Given the description of an element on the screen output the (x, y) to click on. 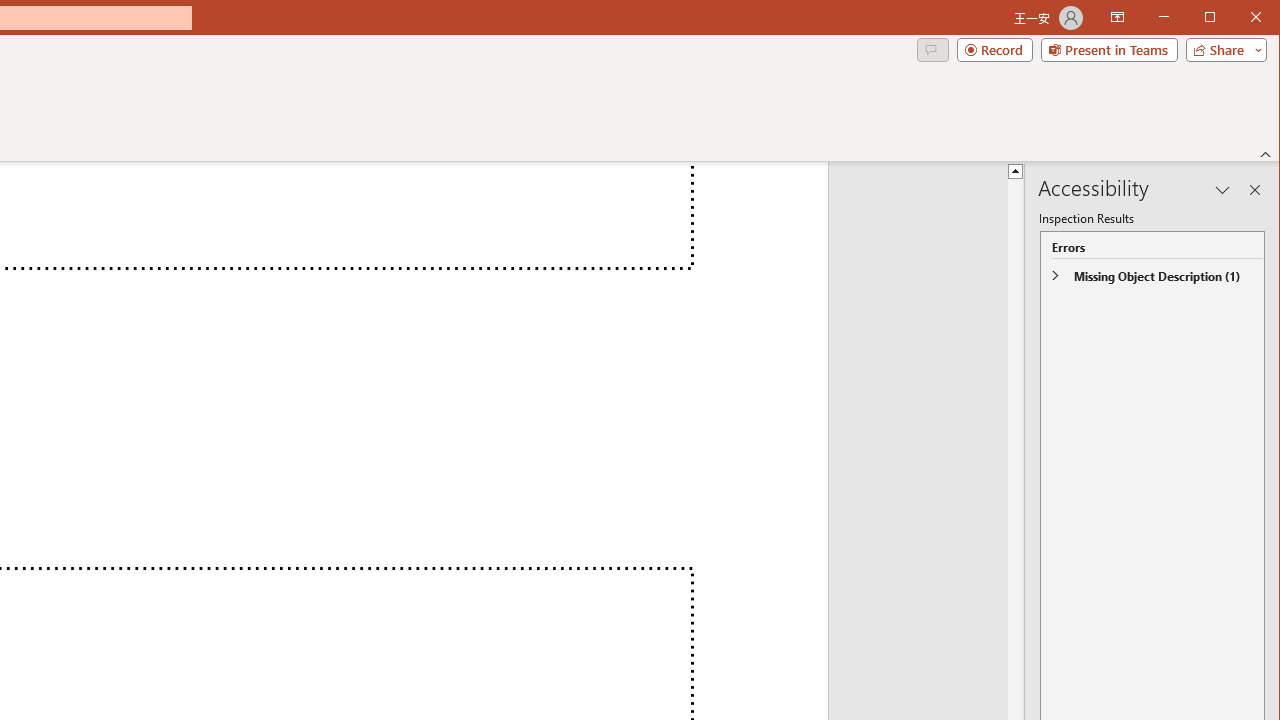
Maximize (1238, 18)
Comments (932, 49)
Share (1222, 49)
Present in Teams (1108, 49)
Record (994, 49)
Ribbon Display Options (1117, 17)
Line up (1015, 170)
Collapse the Ribbon (1266, 154)
Close pane (1254, 189)
Close (1261, 18)
Task Pane Options (1222, 189)
Minimize (1216, 18)
